Given the description of an element on the screen output the (x, y) to click on. 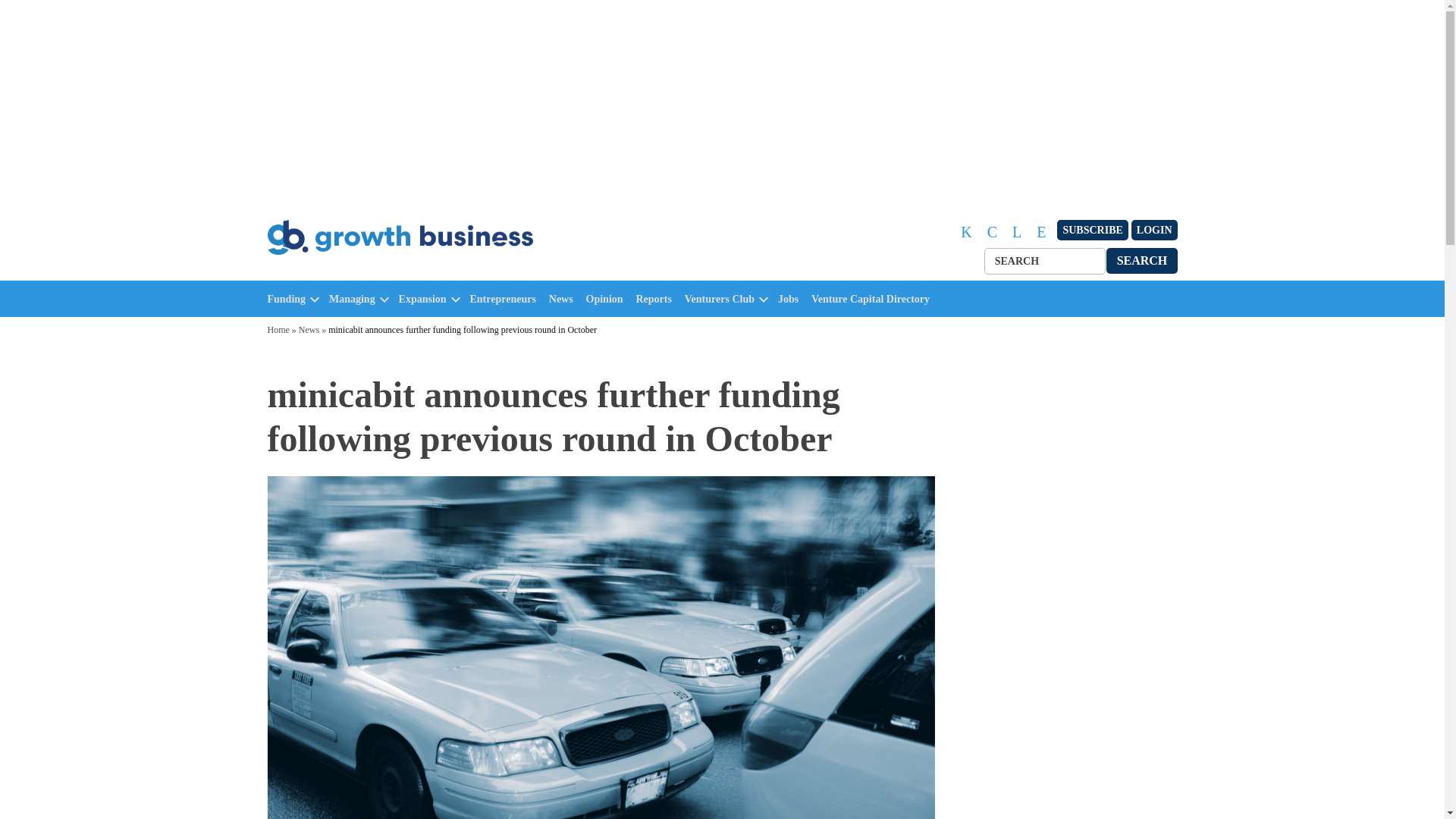
Reports (656, 298)
Managing (352, 298)
3rd party ad content (1062, 467)
News (564, 298)
Growth Business (332, 271)
SUBSCRIBE (1091, 230)
LOGIN (1154, 230)
SEARCH (1142, 260)
Funding (285, 298)
Expansion (422, 298)
Entrepreneurs (506, 298)
Opinion (608, 298)
